Given the description of an element on the screen output the (x, y) to click on. 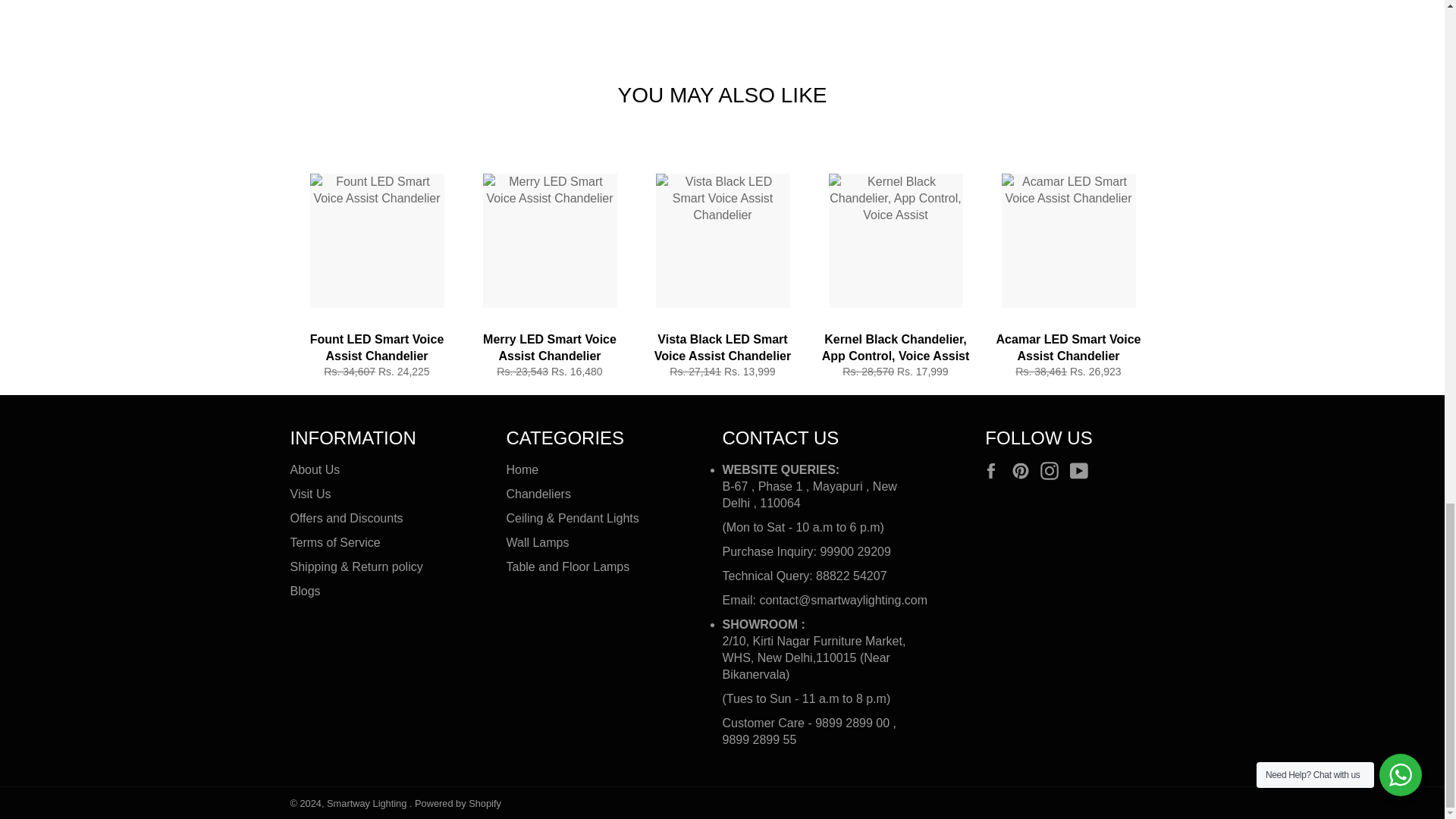
Smartway Lighting  on Instagram (1053, 470)
Smartway Lighting  on Facebook (994, 470)
Smartway Lighting  on Pinterest (1023, 470)
Smartway Lighting  on YouTube (1083, 470)
